Given the description of an element on the screen output the (x, y) to click on. 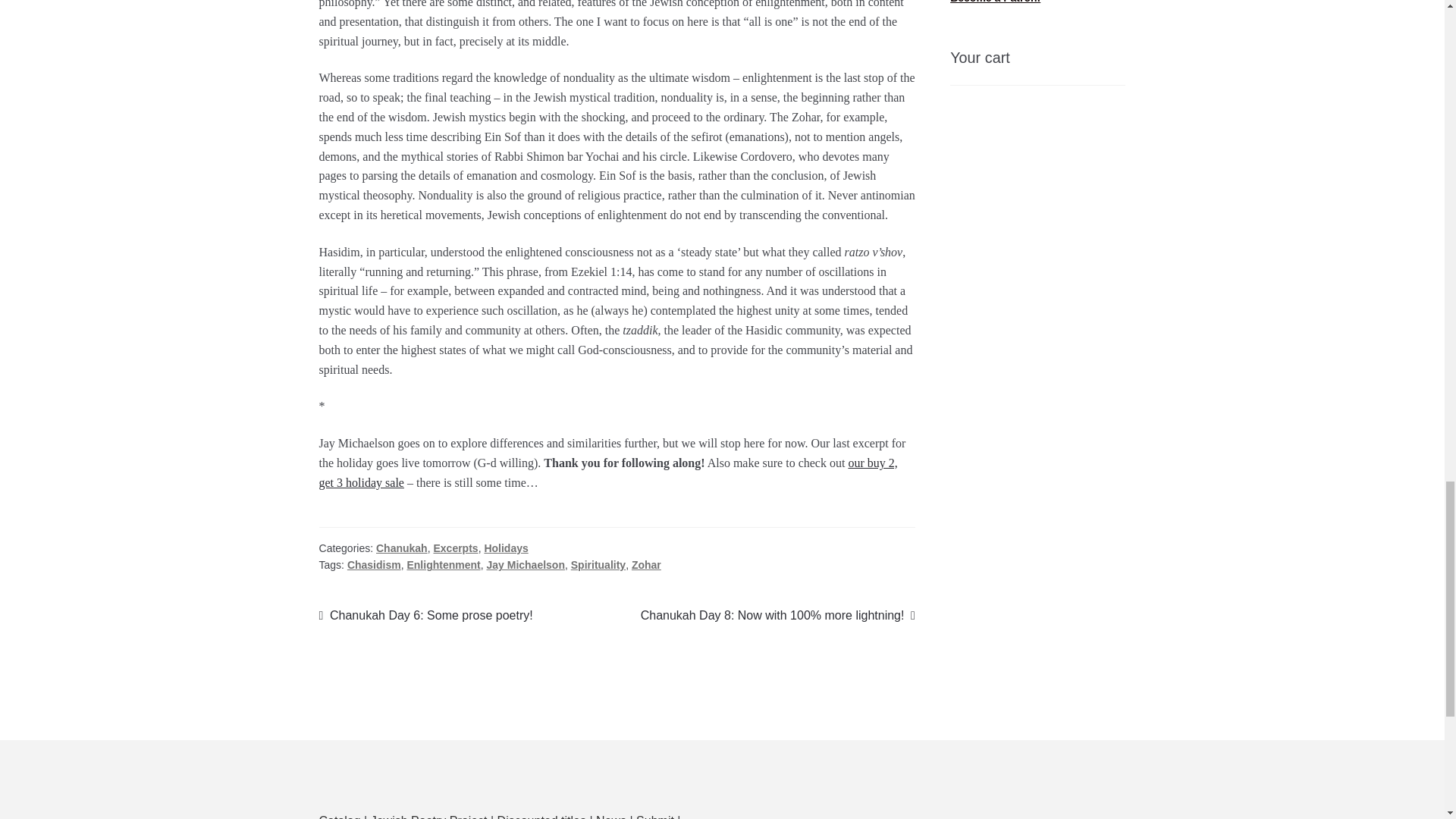
Zohar (646, 564)
Chanukah (401, 548)
Enlightenment (443, 564)
Jay Michaelson (525, 564)
Chasidism (374, 564)
Spirituality (598, 564)
Excerpts (425, 615)
Holidays (454, 548)
our buy 2, get 3 holiday sale (505, 548)
